Given the description of an element on the screen output the (x, y) to click on. 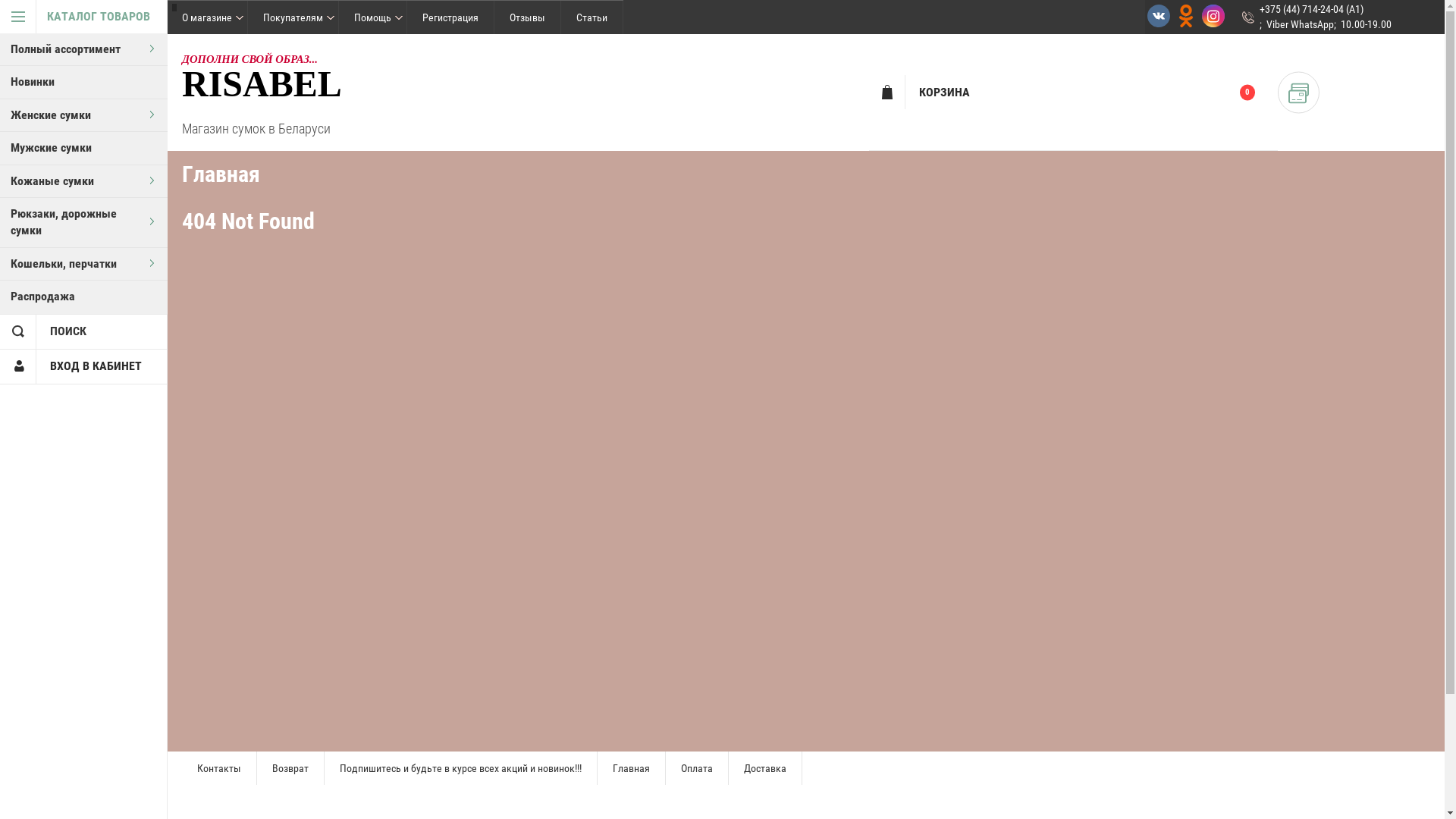
10.00-19.00 Element type: text (1365, 24)
Viber WhatsApp Element type: text (1299, 24)
